Given the description of an element on the screen output the (x, y) to click on. 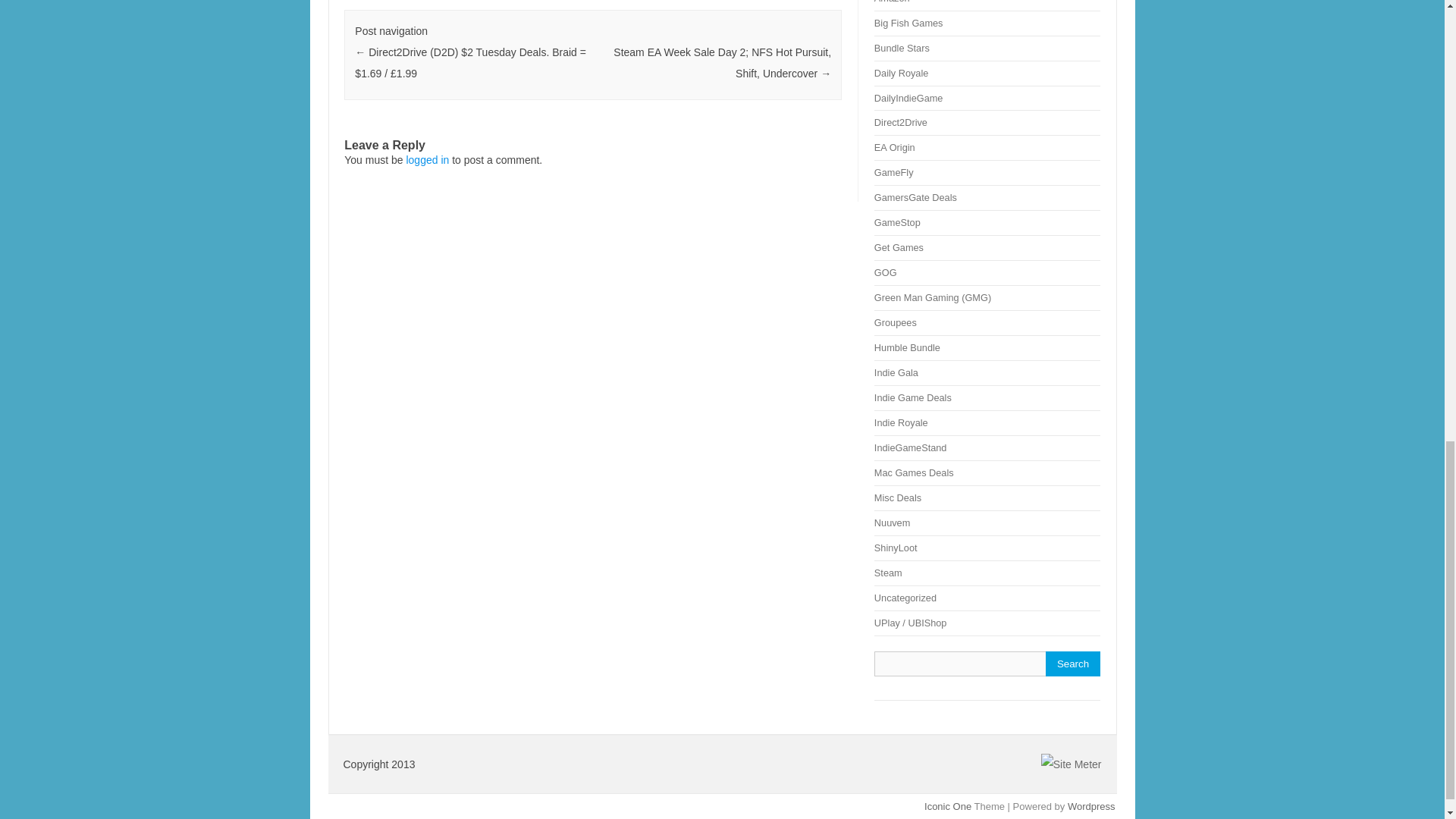
Search (1072, 663)
logged in (427, 159)
